Given the description of an element on the screen output the (x, y) to click on. 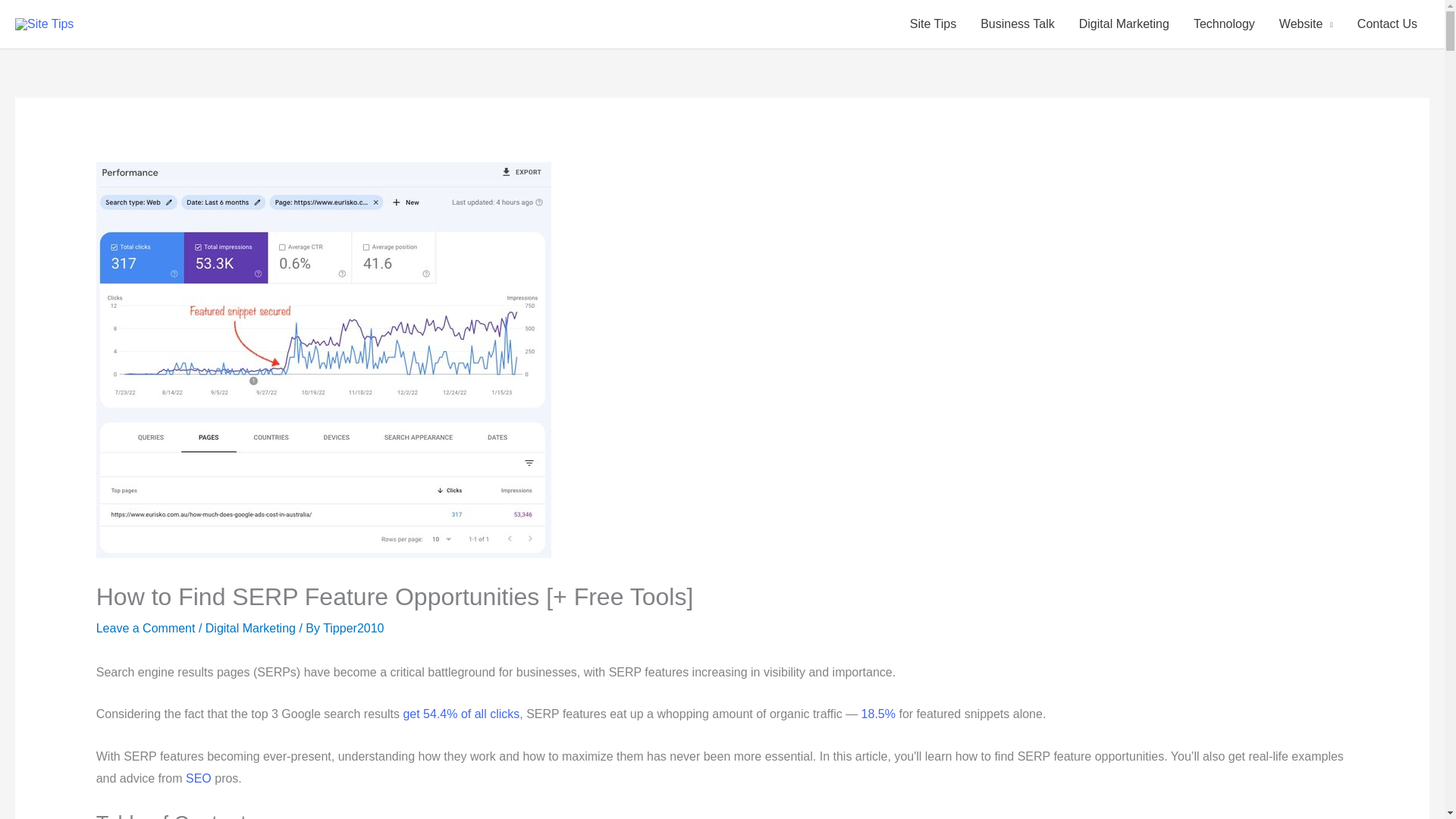
Contact Us (1387, 24)
Digital Marketing (250, 627)
Tipper2010 (353, 627)
Site Tips (933, 24)
SEO (198, 778)
View all posts by Tipper2010 (353, 627)
Digital Marketing (1123, 24)
Business Talk (1017, 24)
Website (1305, 24)
Technology (1223, 24)
Leave a Comment (145, 627)
